Given the description of an element on the screen output the (x, y) to click on. 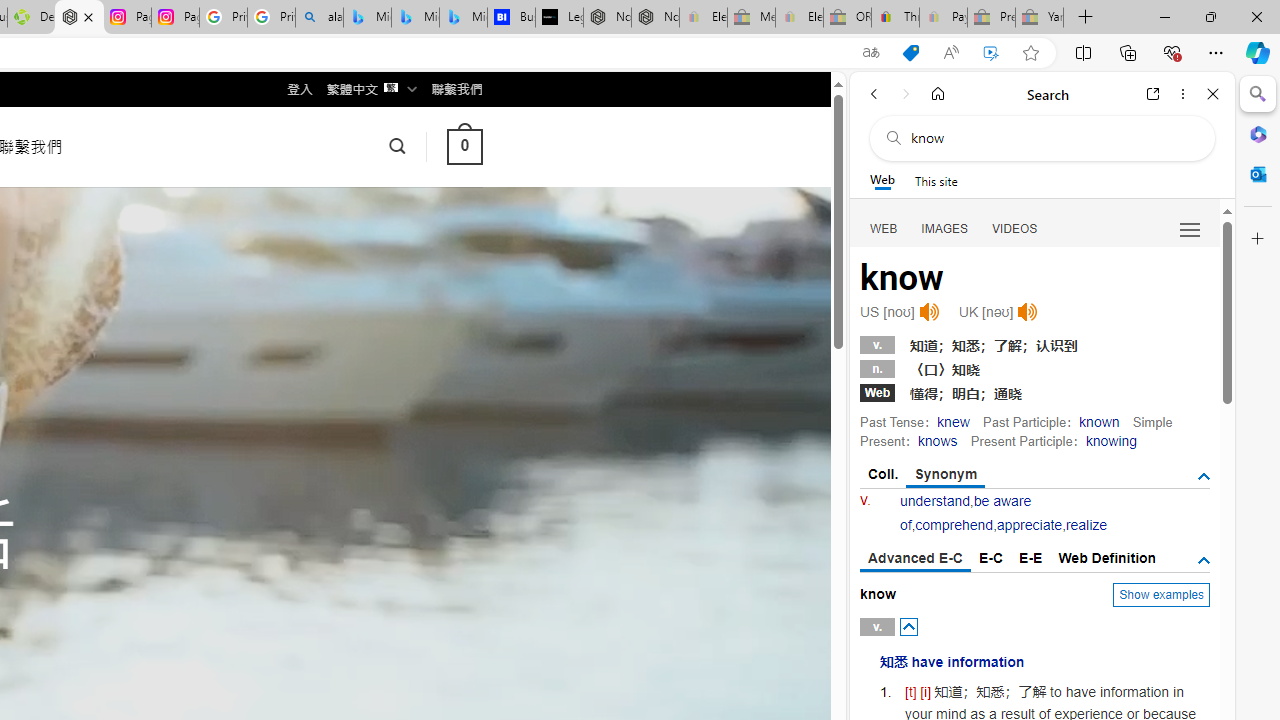
Search Filter, WEB (884, 228)
knows (936, 440)
WEB (884, 228)
AutomationID: posbtn_0 (908, 626)
Payments Terms of Use | eBay.com - Sleeping (943, 17)
AutomationID: tgsb (1203, 476)
